Given the description of an element on the screen output the (x, y) to click on. 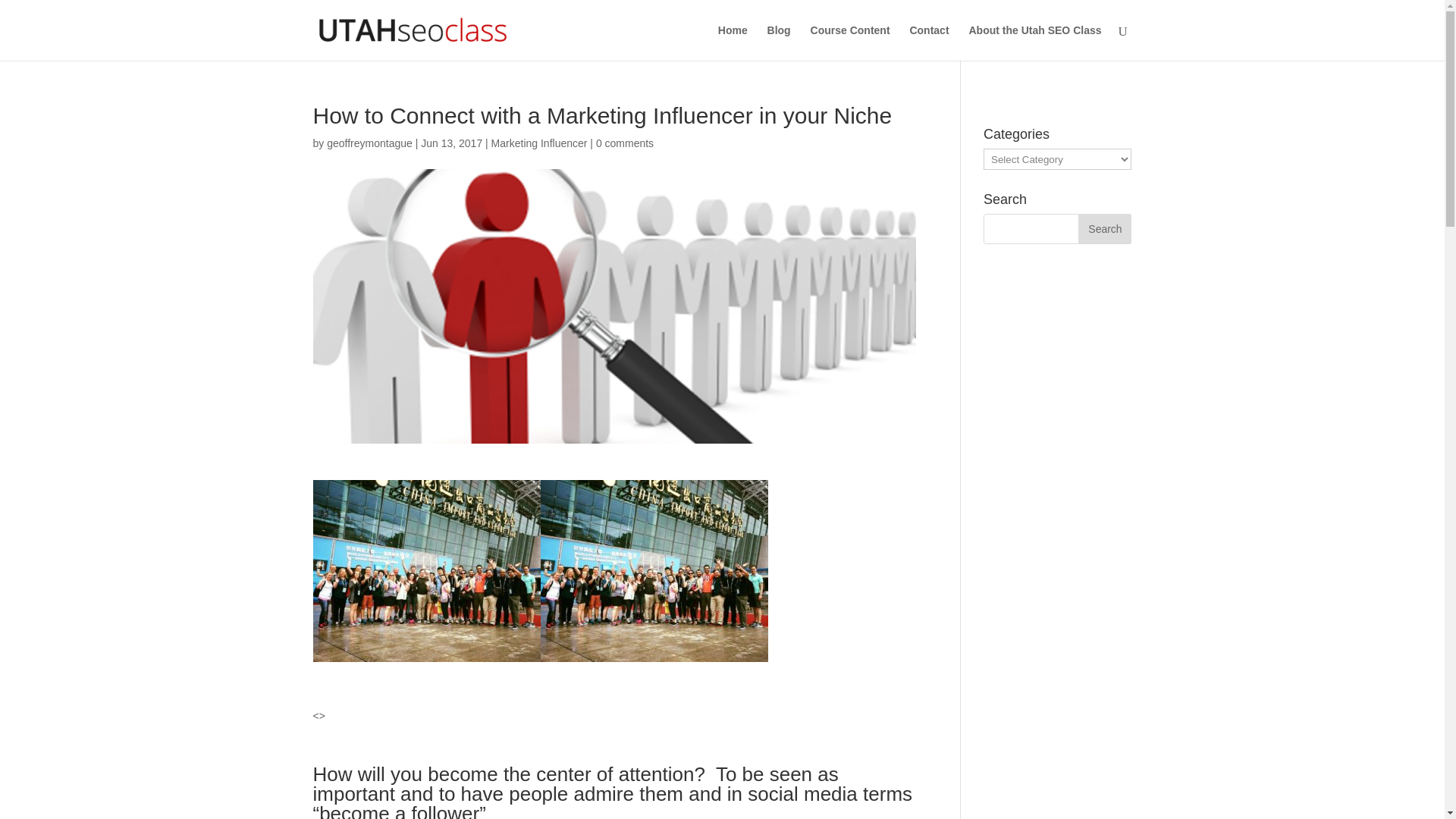
Course Content (849, 42)
Search (1104, 228)
About the Utah SEO Class (1034, 42)
geoffreymontague (369, 143)
0 comments (624, 143)
Marketing Influencer (540, 143)
Search (1104, 228)
Posts by geoffreymontague (369, 143)
Contact (928, 42)
